Given the description of an element on the screen output the (x, y) to click on. 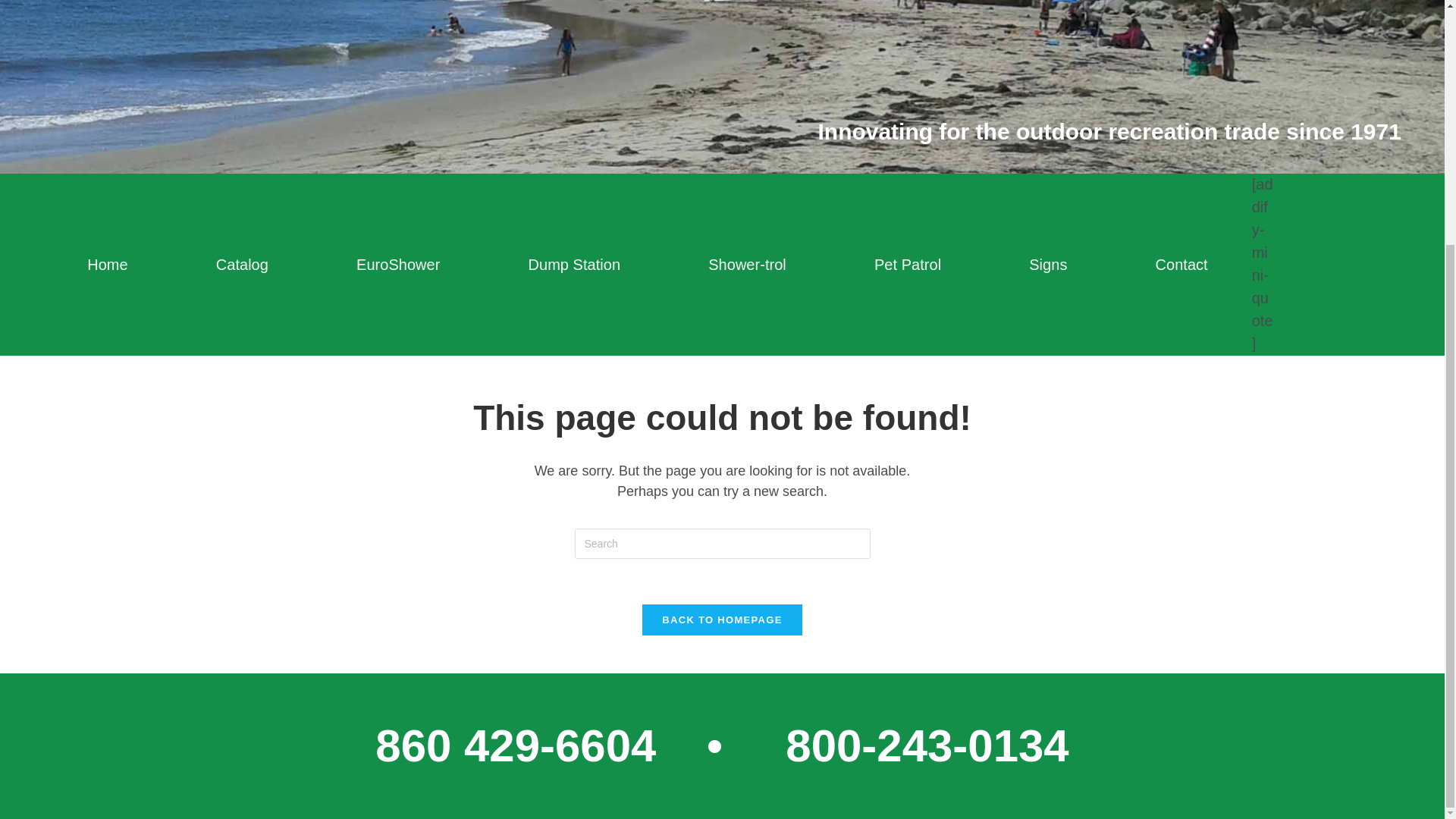
Shower-trol (746, 264)
Signs (1047, 264)
BACK TO HOMEPAGE (722, 619)
Catalog (242, 264)
Pet Patrol (907, 264)
EuroShower (398, 264)
Home (107, 264)
Dump Station (573, 264)
Contact (1180, 264)
